Given the description of an element on the screen output the (x, y) to click on. 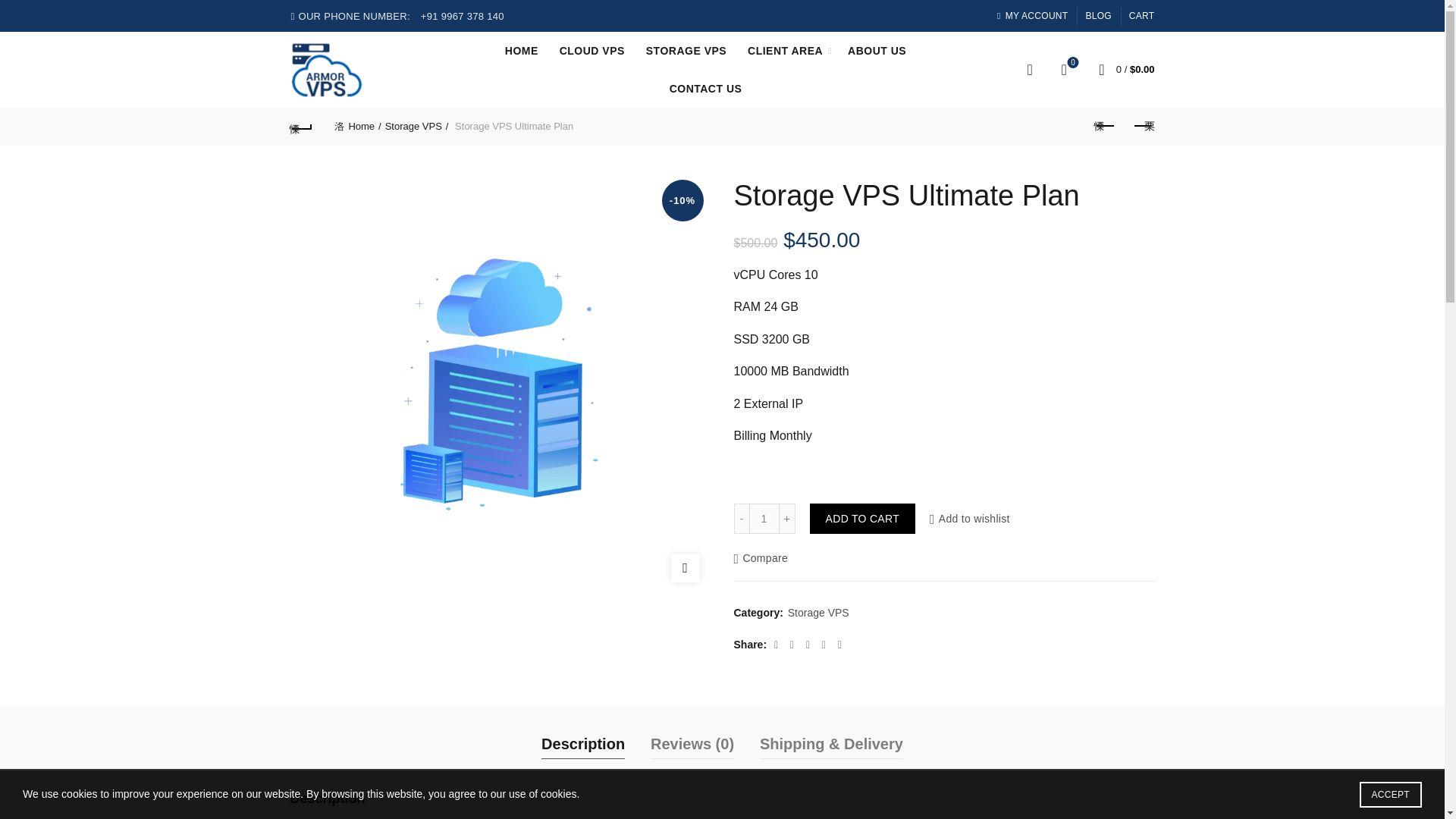
Storage VPS (416, 125)
Next product (1142, 126)
ABOUT US (1063, 69)
Back (876, 50)
Add to wishlist (301, 126)
CLIENT AREA (970, 519)
cloud-vps.png (785, 50)
Compare (357, 125)
1 (761, 558)
CONTACT US (763, 518)
MY ACCOUNT (705, 88)
- (1031, 15)
Search (741, 518)
